Given the description of an element on the screen output the (x, y) to click on. 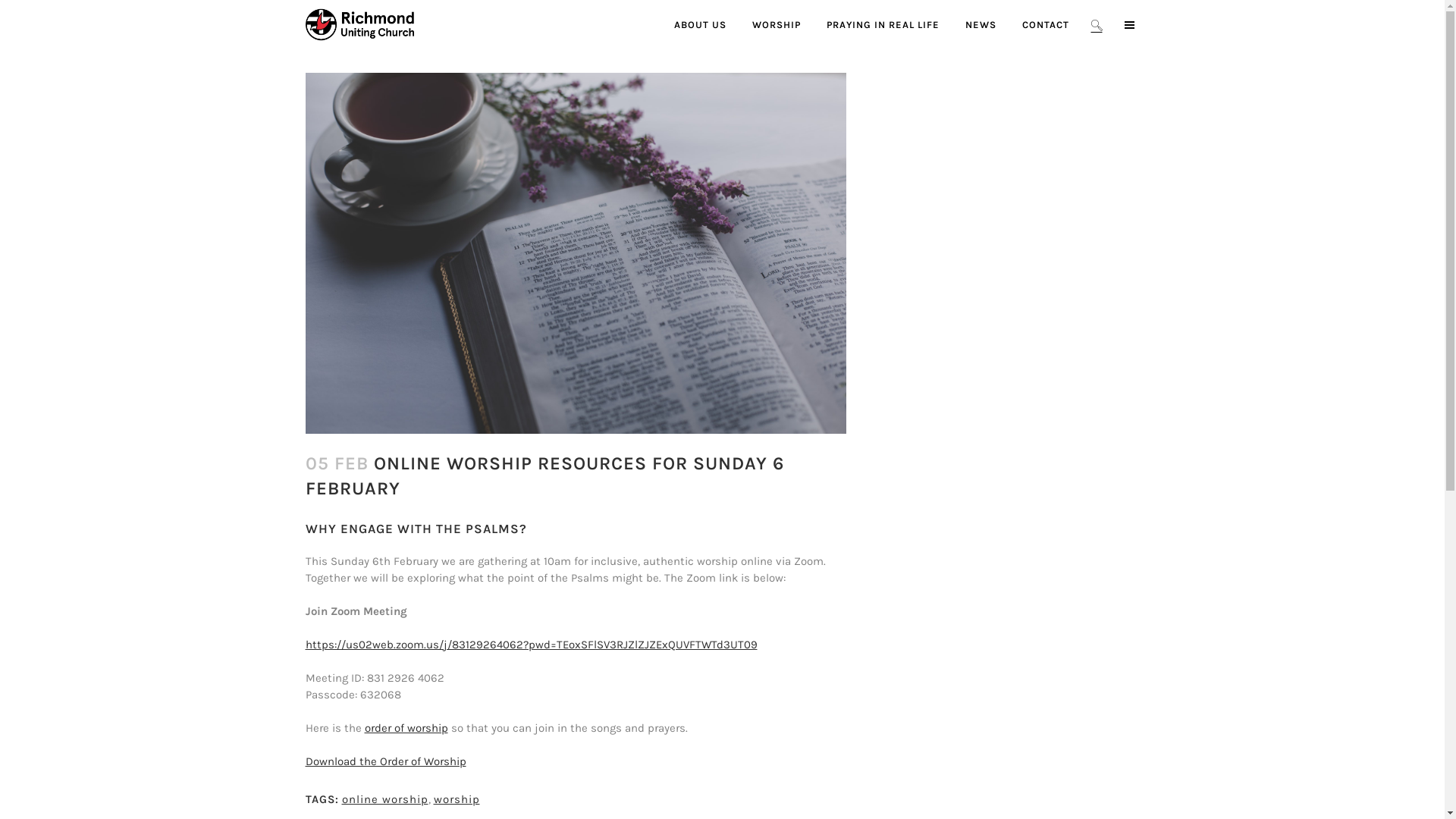
NEWS Element type: text (980, 24)
CONTACT Element type: text (1044, 24)
WORSHIP Element type: text (775, 24)
order of worship Element type: text (405, 727)
ABOUT US Element type: text (700, 24)
worship Element type: text (456, 799)
Download the Order of Worship Element type: text (384, 761)
  Element type: text (1128, 24)
online worship Element type: text (384, 799)
PRAYING IN REAL LIFE Element type: text (881, 24)
